Given the description of an element on the screen output the (x, y) to click on. 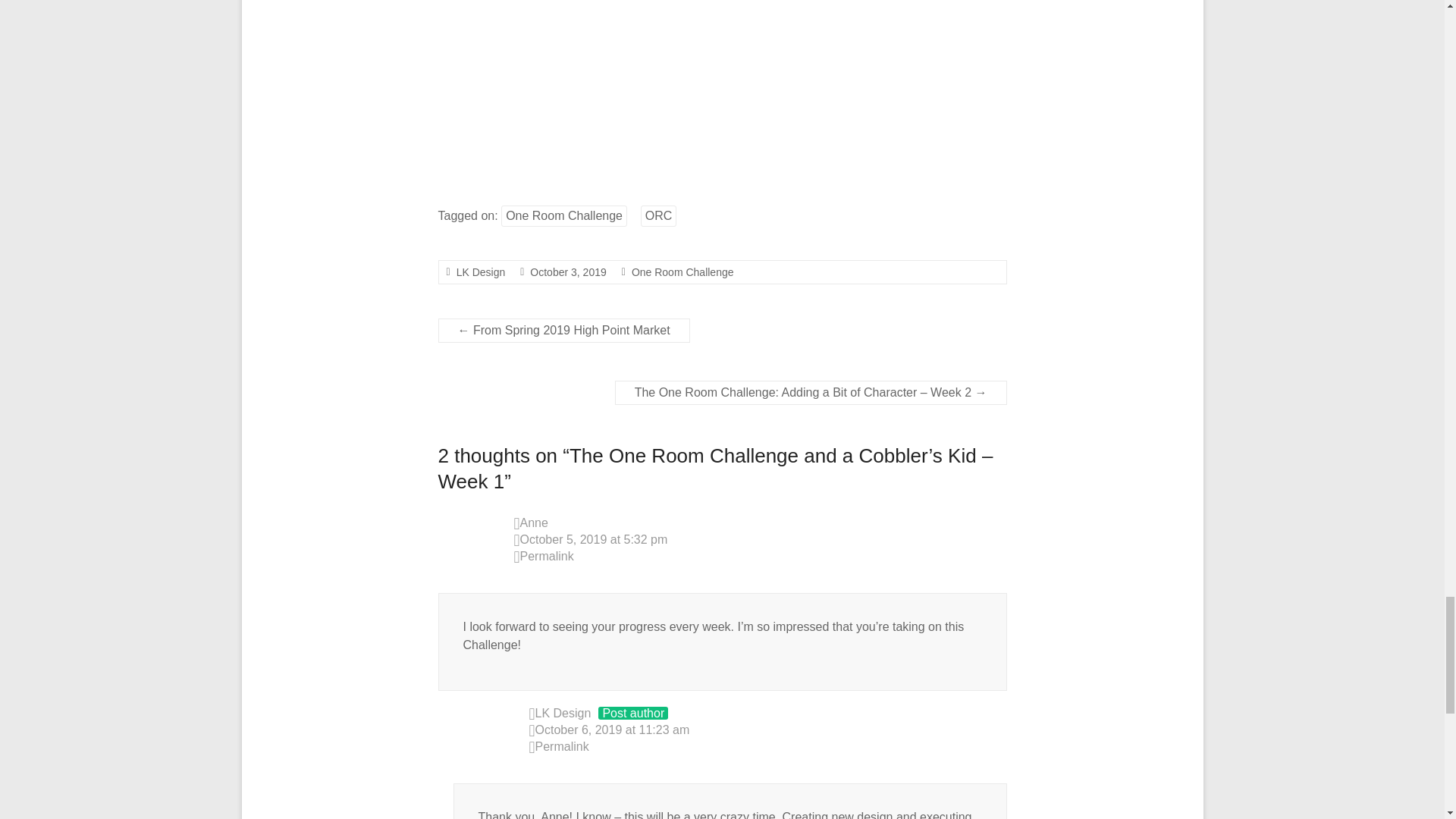
7:41 am (567, 272)
Anne (533, 522)
October 3, 2019 (567, 272)
Permalink (760, 556)
Permalink (768, 747)
One Room Challenge (682, 272)
ORC (658, 215)
LK Design (481, 272)
One Room Challenge (563, 215)
